Given the description of an element on the screen output the (x, y) to click on. 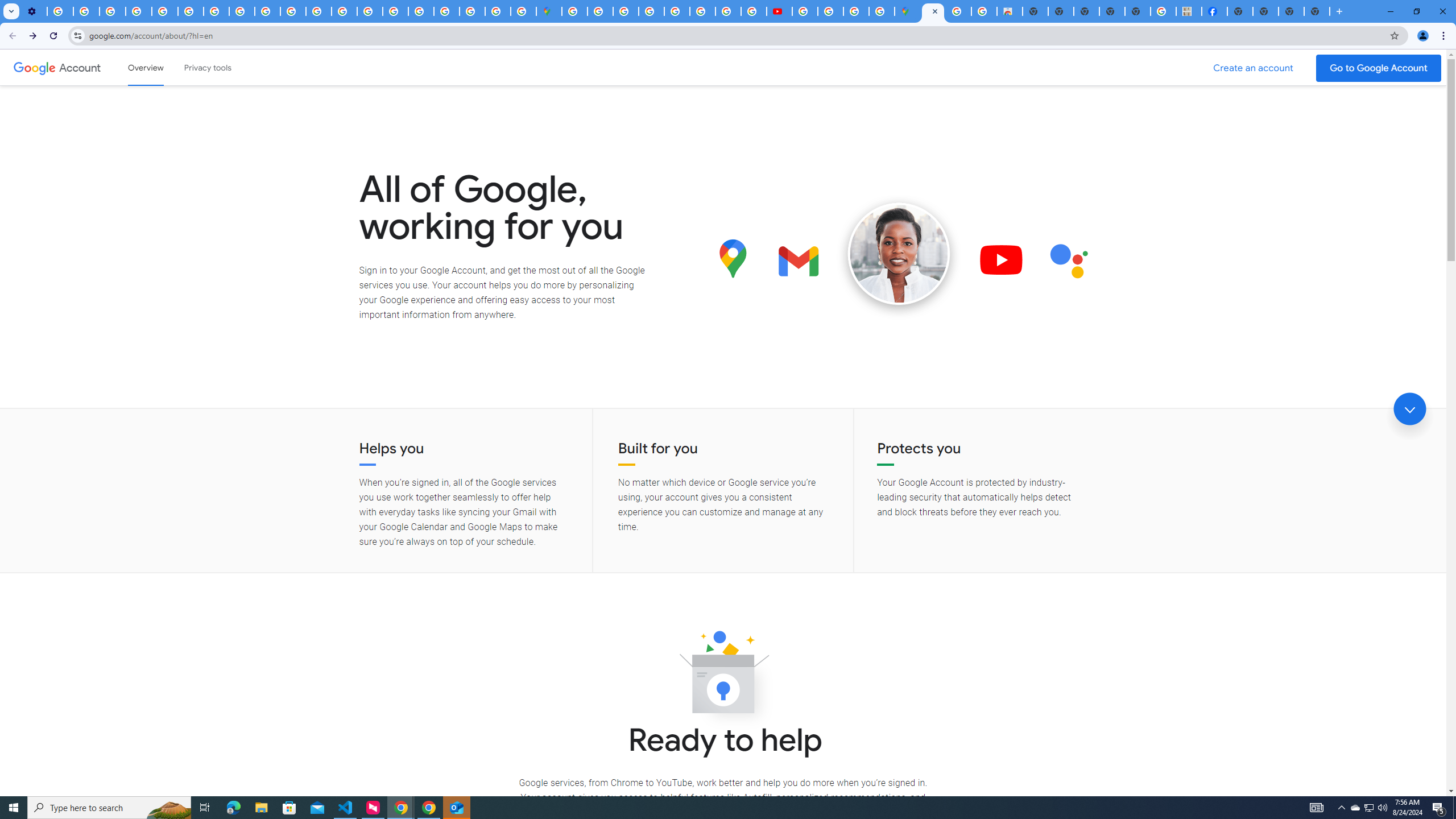
Create a Google Account (1253, 67)
Privacy Help Center - Policies Help (344, 11)
New Tab (1316, 11)
Google logo (34, 67)
Learn how to find your photos - Google Photos Help (86, 11)
Jump link (1409, 408)
Google Account overview (145, 67)
